Given the description of an element on the screen output the (x, y) to click on. 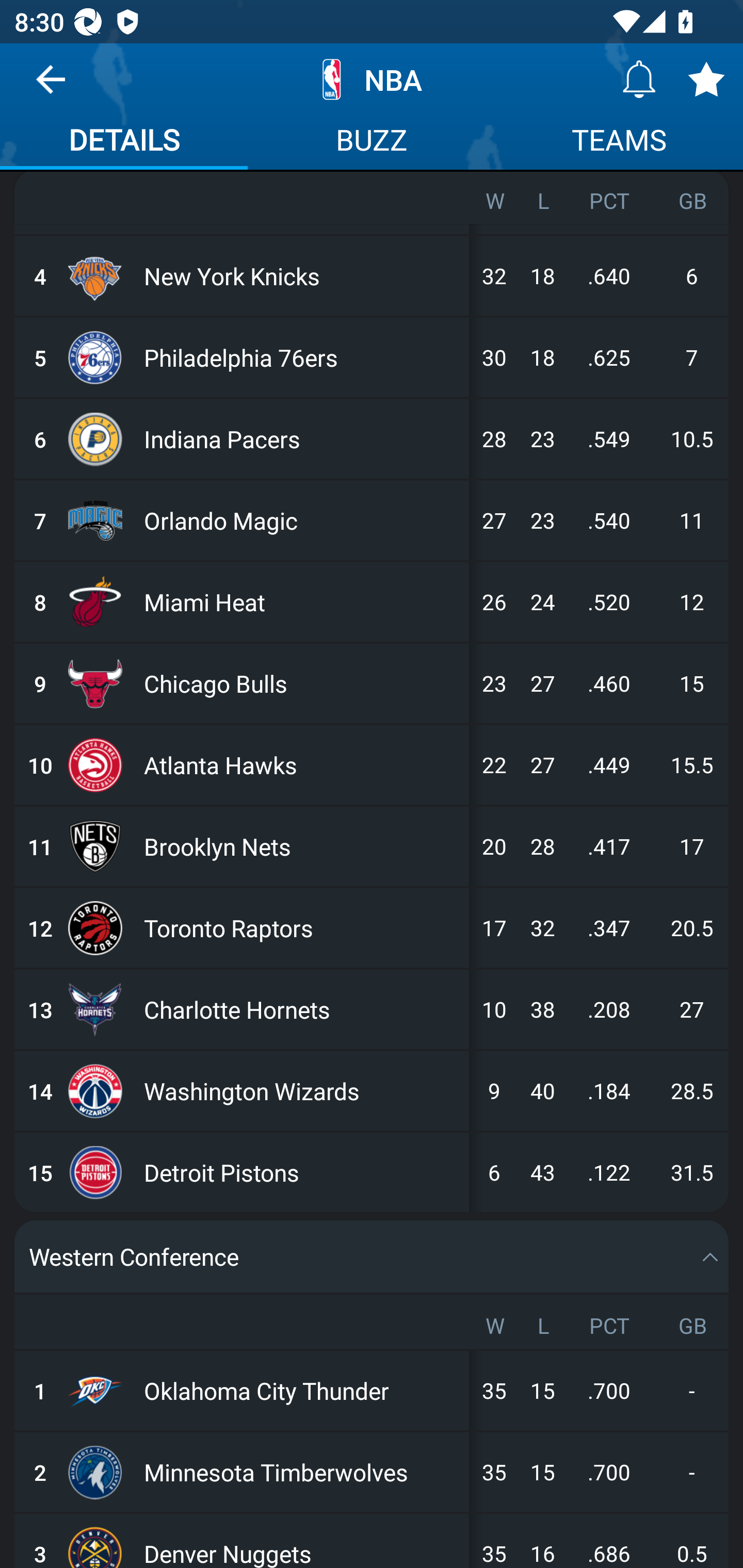
Navigate up (50, 86)
DETAILS (123, 142)
BUZZ (371, 142)
TEAMS (619, 142)
4 New York Knicks 32 18 .640 6 (371, 275)
New York Knicks (302, 275)
5 Philadelphia 76ers 30 18 .625 7 (371, 357)
Philadelphia 76ers (302, 357)
6 Indiana Pacers 28 23 .549 10.5 (371, 438)
Indiana Pacers (302, 438)
7 Orlando Magic 27 23 .540 11 (371, 520)
Orlando Magic (302, 520)
8 Miami Heat 26 24 .520 12 (371, 601)
Miami Heat (302, 601)
9 Chicago Bulls 23 27 .460 15 (371, 683)
Chicago Bulls (302, 683)
10 Atlanta Hawks 22 27 .449 15.5 (371, 764)
Atlanta Hawks (302, 764)
11 Brooklyn Nets 20 28 .417 17 (371, 845)
Brooklyn Nets (302, 845)
12 Toronto Raptors 17 32 .347 20.5 (371, 927)
Toronto Raptors (302, 927)
13 Charlotte Hornets 10 38 .208 27 (371, 1008)
Charlotte Hornets (302, 1008)
14 Washington Wizards 9 40 .184 28.5 (371, 1090)
Washington Wizards (302, 1090)
15 Detroit Pistons 6 43 .122 31.5 (371, 1172)
Detroit Pistons (302, 1172)
Western Conference (371, 1255)
1 Oklahoma City Thunder 35 15 .700 - (371, 1390)
Oklahoma City Thunder (302, 1390)
2 Minnesota Timberwolves 35 15 .700 - (371, 1471)
Minnesota Timberwolves (302, 1471)
3 Denver Nuggets 35 16 .686 0.5 (371, 1540)
Denver Nuggets (302, 1540)
